Given the description of an element on the screen output the (x, y) to click on. 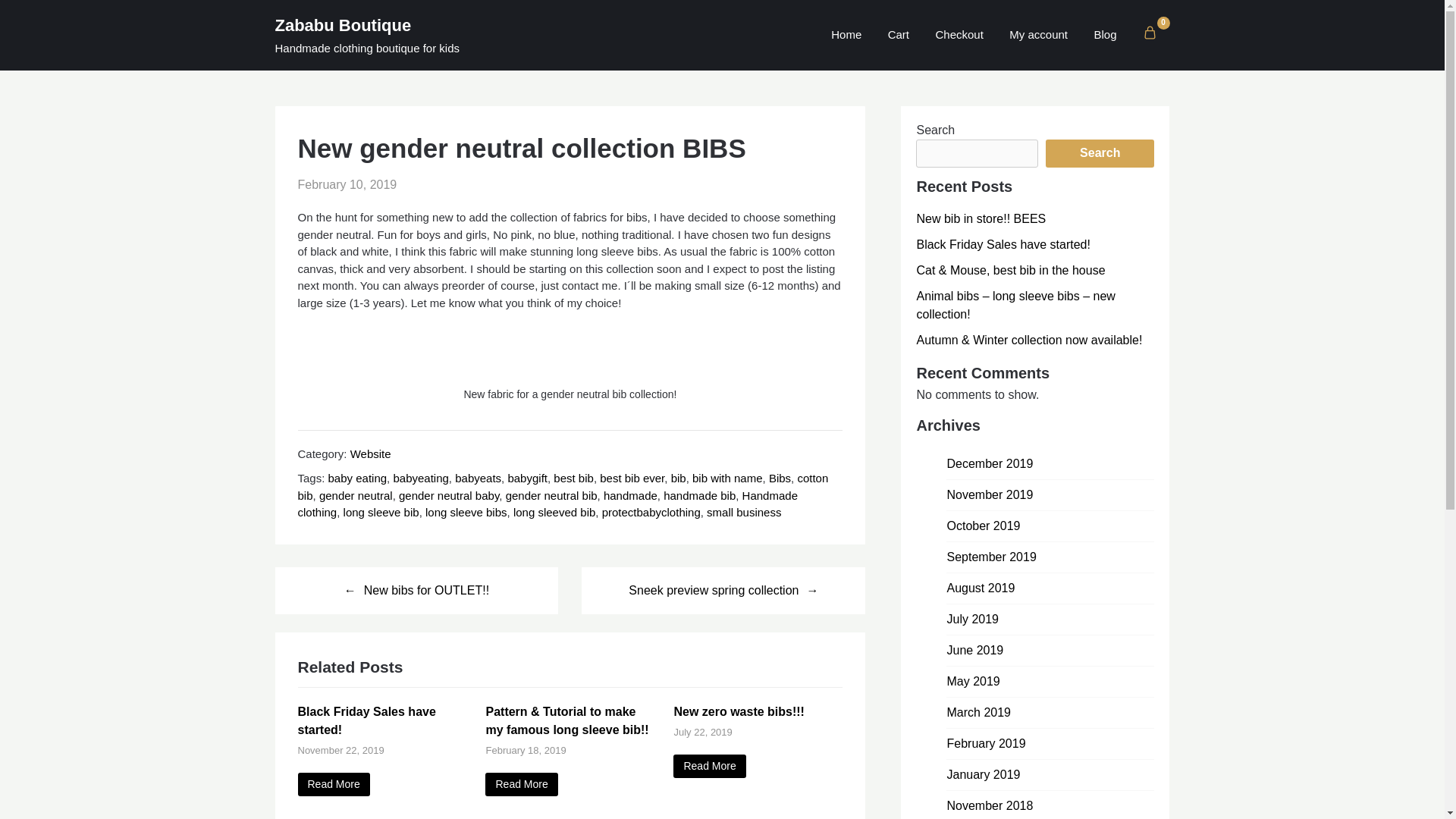
Bibs (779, 477)
Home (845, 34)
bib (678, 477)
handmade (631, 494)
February 10, 2019 (346, 184)
baby eating (358, 477)
Handmade clothing (546, 503)
0 (1149, 31)
New zero waste bibs!!! (708, 766)
best bib (573, 477)
Zababu Boutique (409, 25)
gender neutral (355, 494)
best bib ever (631, 477)
long sleeved bib (554, 512)
babyeats (477, 477)
